Given the description of an element on the screen output the (x, y) to click on. 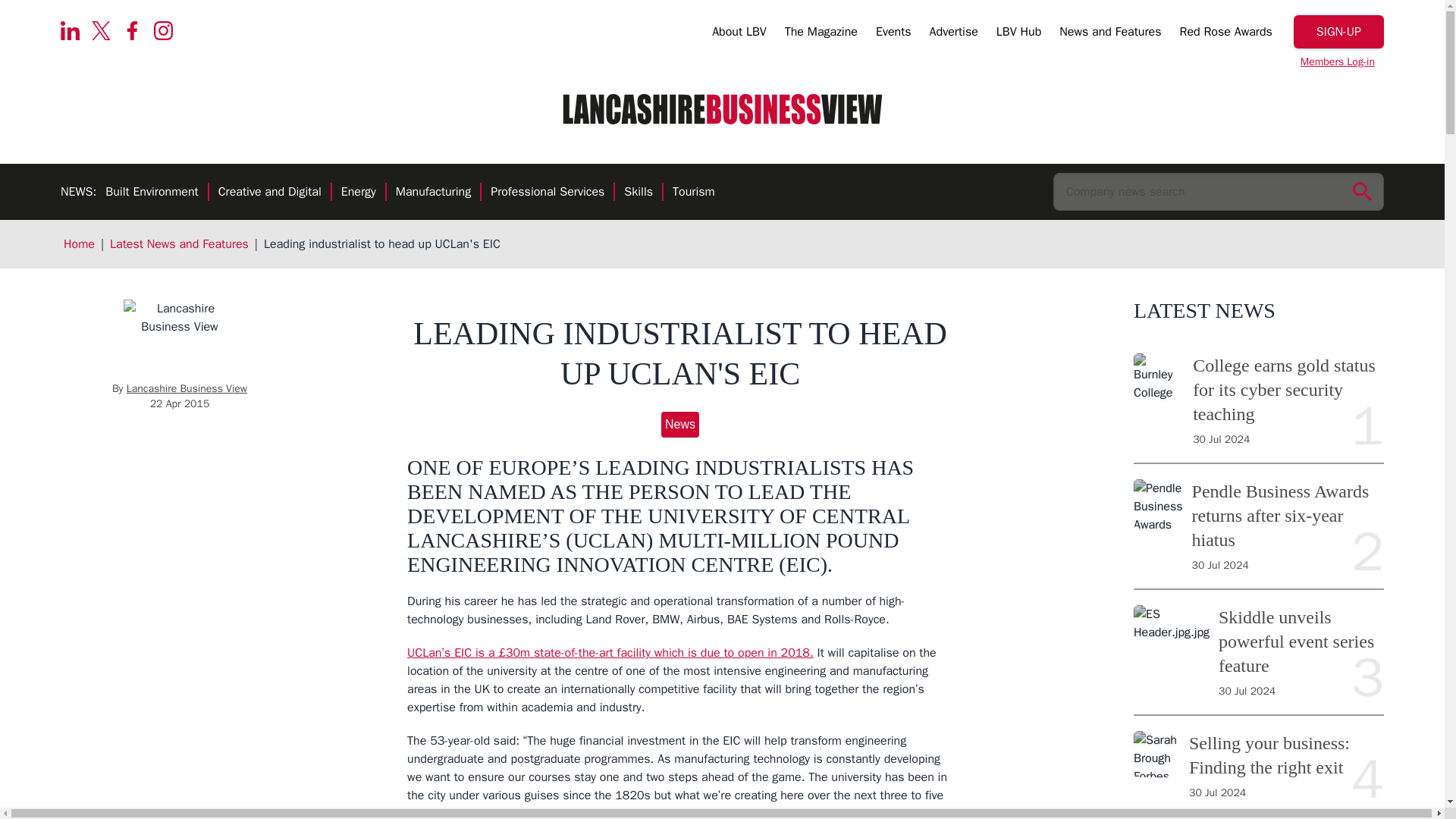
The Magazine (820, 34)
News and Features (1109, 34)
Manufacturing (433, 192)
SIGN-UP (1339, 31)
Creative and Digital (269, 192)
Red Rose Awards (1225, 34)
Built Environment (151, 192)
About LBV (739, 34)
Members Log-in (1337, 61)
Professional Services (547, 192)
Skills (638, 192)
Tourism (693, 192)
LBV Hub (1018, 34)
Energy (357, 192)
Advertise (954, 34)
